Given the description of an element on the screen output the (x, y) to click on. 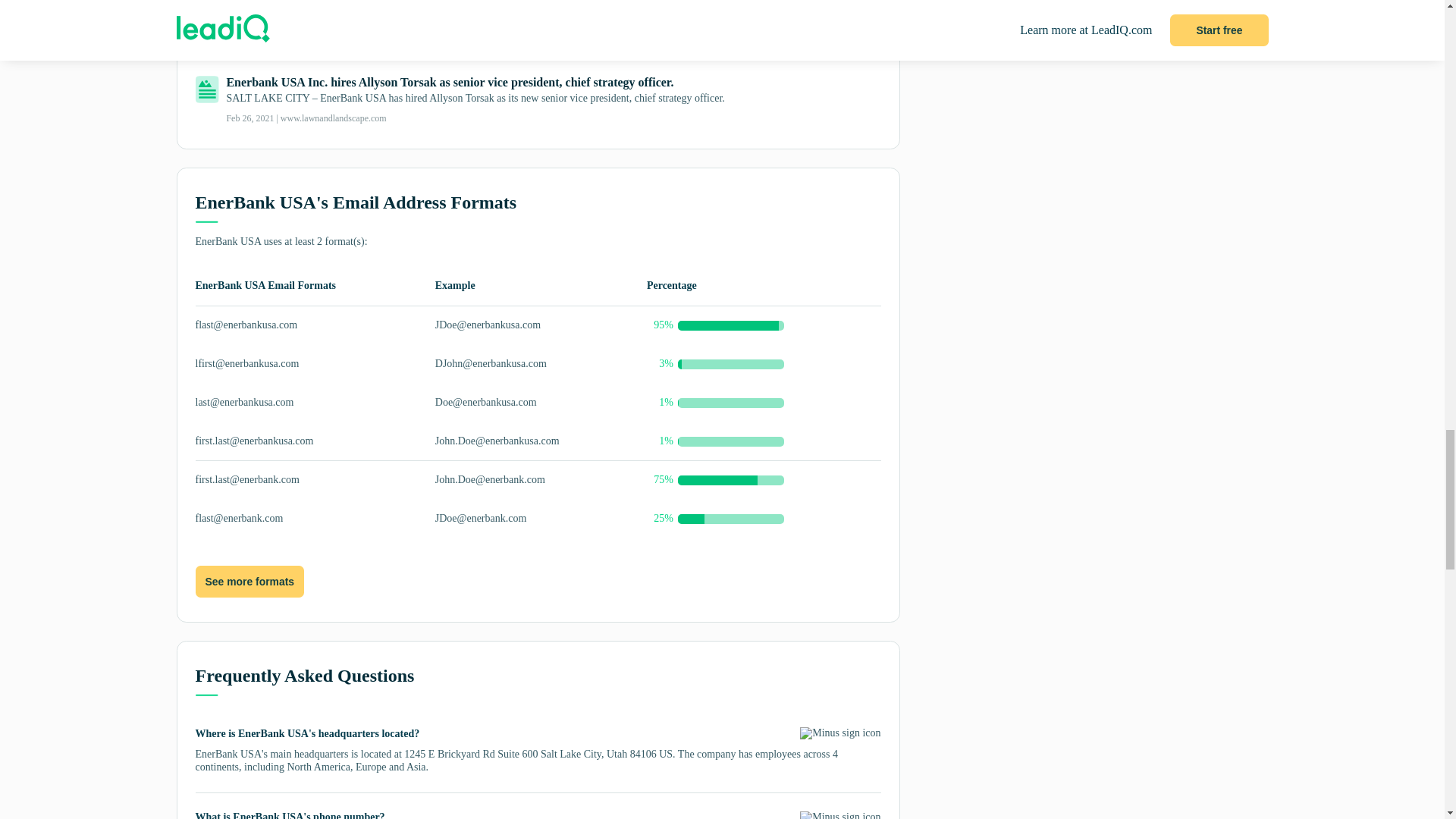
See more formats (249, 581)
See more formats (249, 582)
